Given the description of an element on the screen output the (x, y) to click on. 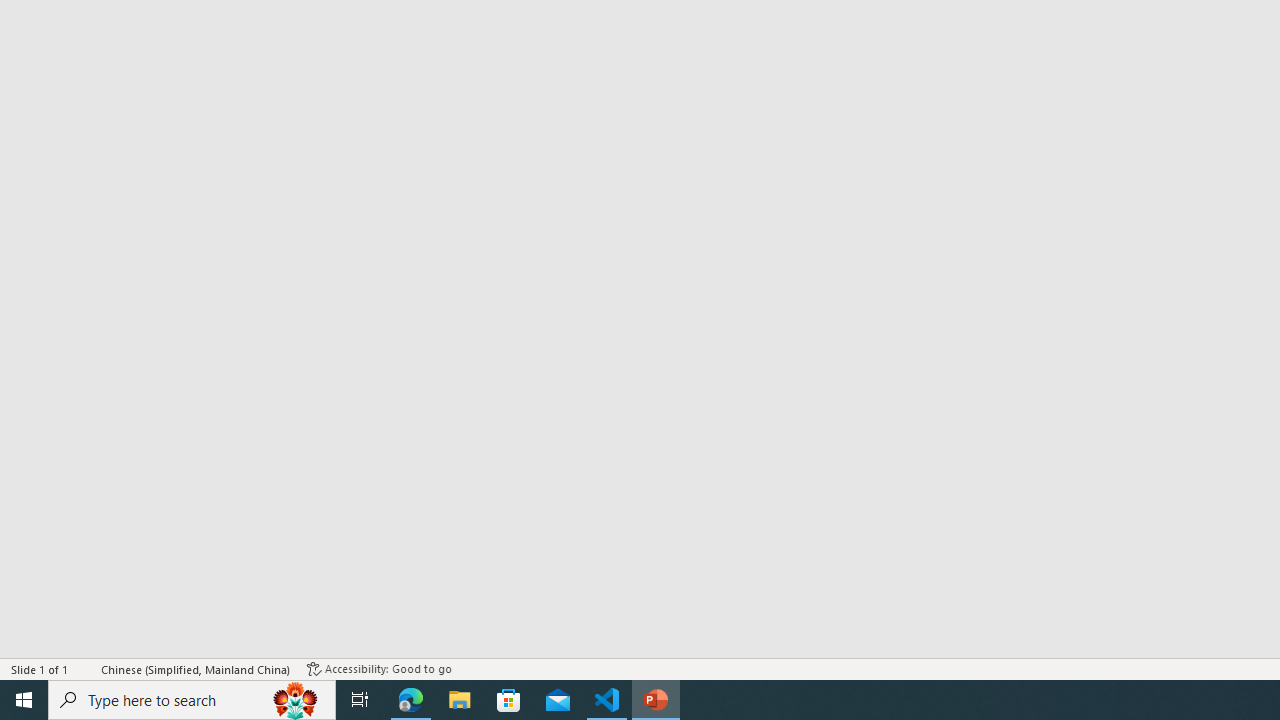
Spell Check  (86, 668)
Accessibility Checker Accessibility: Good to go (379, 668)
